Given the description of an element on the screen output the (x, y) to click on. 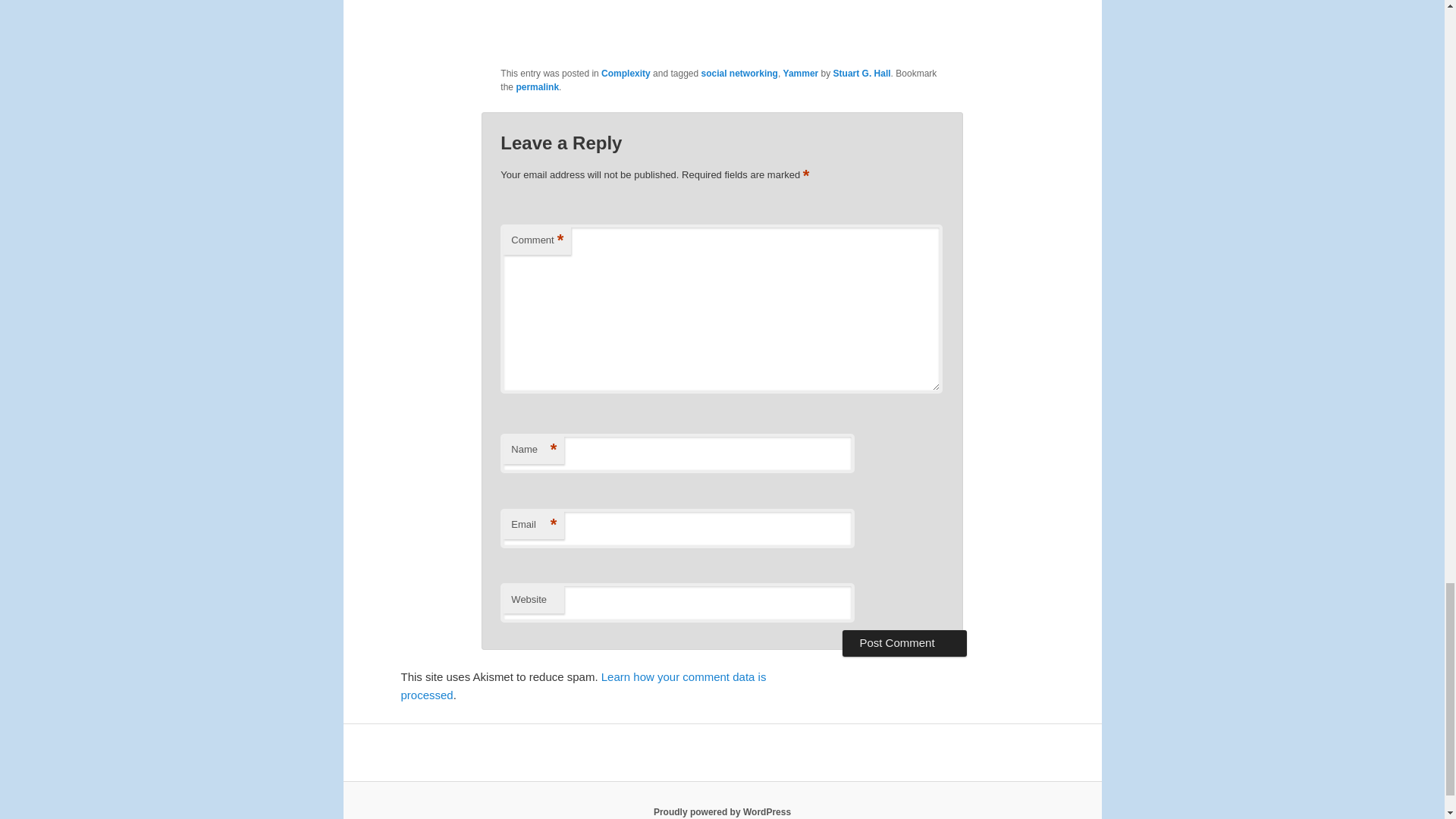
Semantic Personal Publishing Platform (721, 811)
Complexity (625, 72)
Stuart G. Hall (861, 72)
social networking (739, 72)
permalink (537, 86)
Post Comment (904, 642)
Post Comment (904, 642)
Learn how your comment data is processed (582, 685)
Proudly powered by WordPress (721, 811)
Yammer (800, 72)
